Given the description of an element on the screen output the (x, y) to click on. 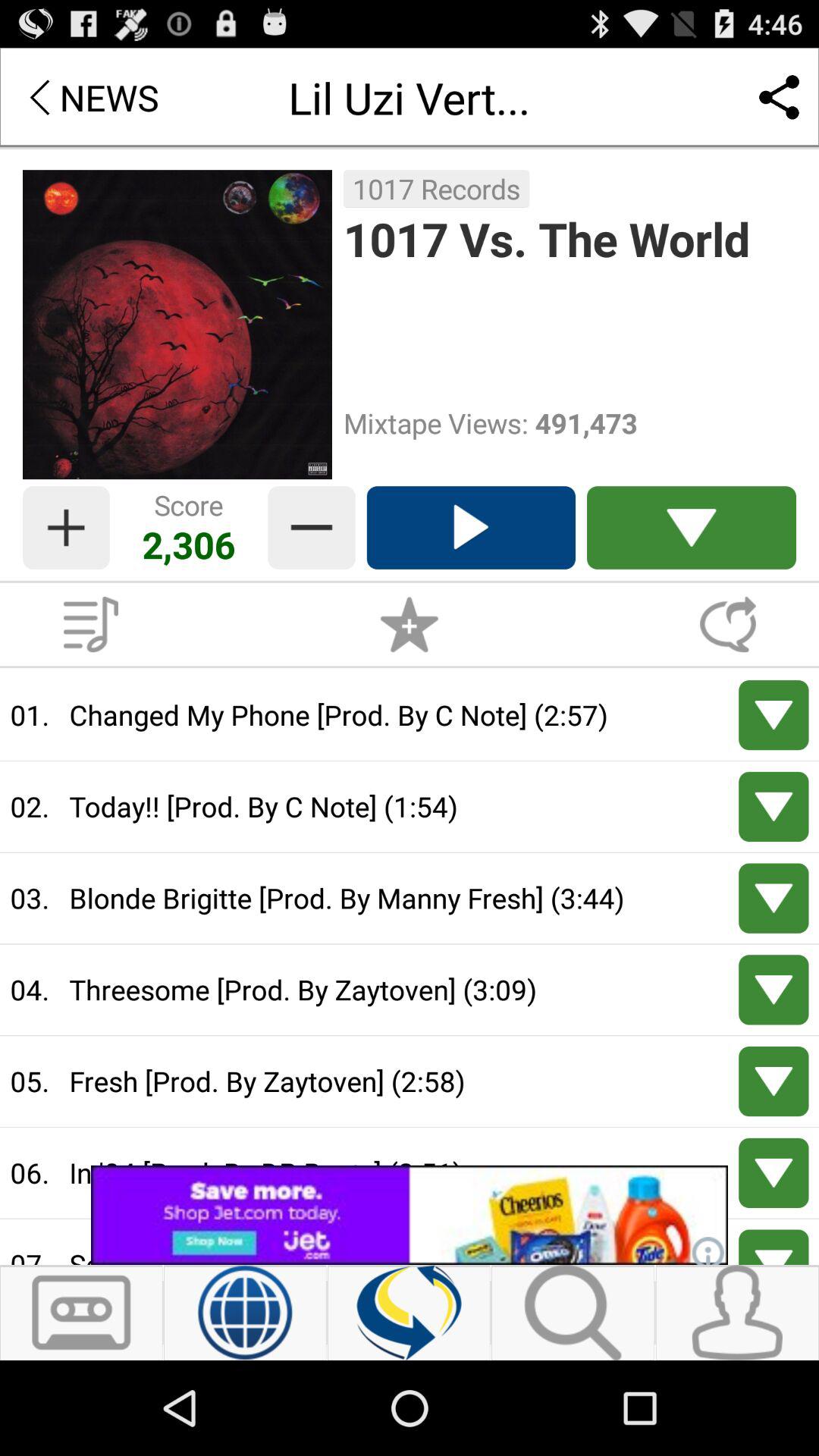
play option (470, 527)
